Given the description of an element on the screen output the (x, y) to click on. 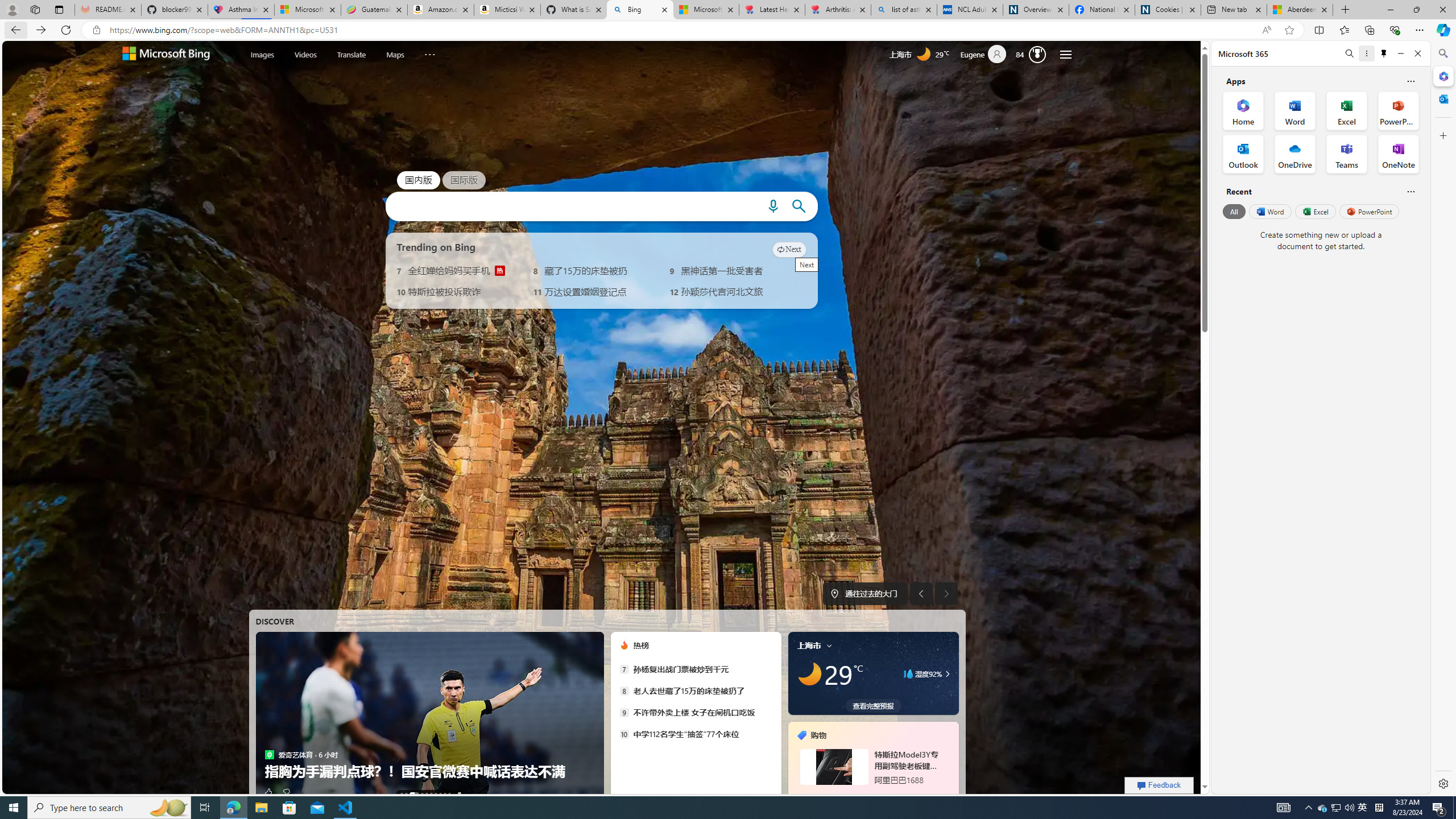
Microsoft-Report a Concern to Bing (307, 9)
Videos (305, 53)
More (429, 51)
list of asthma inhalers uk - Search (904, 9)
Translate (351, 53)
PowerPoint (1369, 210)
AutomationID: tab-2 (413, 793)
